Given the description of an element on the screen output the (x, y) to click on. 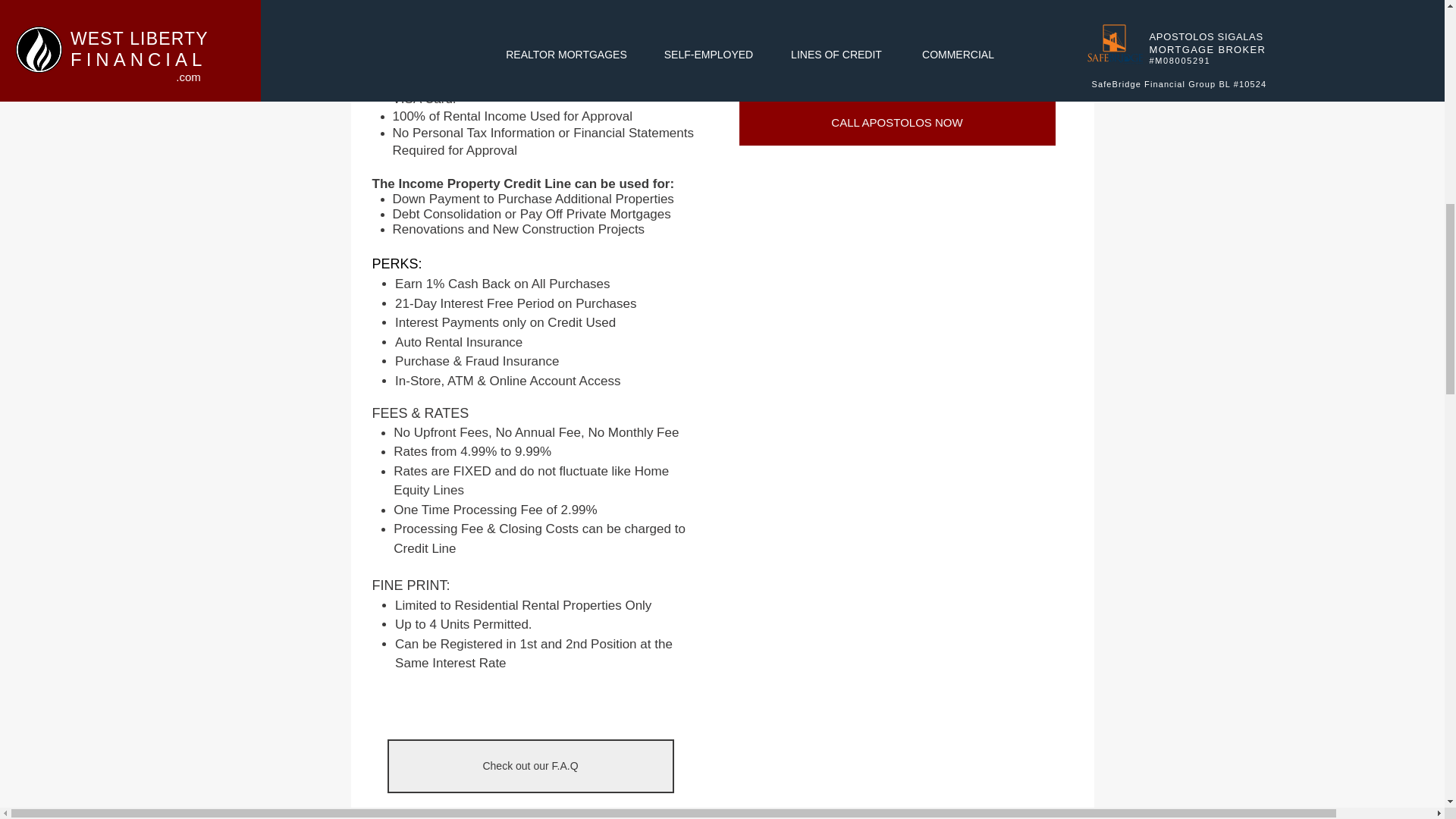
Check out our F.A.Q (529, 766)
BOOK A CALL (896, 42)
CALL APOSTOLOS NOW (896, 121)
